Given the description of an element on the screen output the (x, y) to click on. 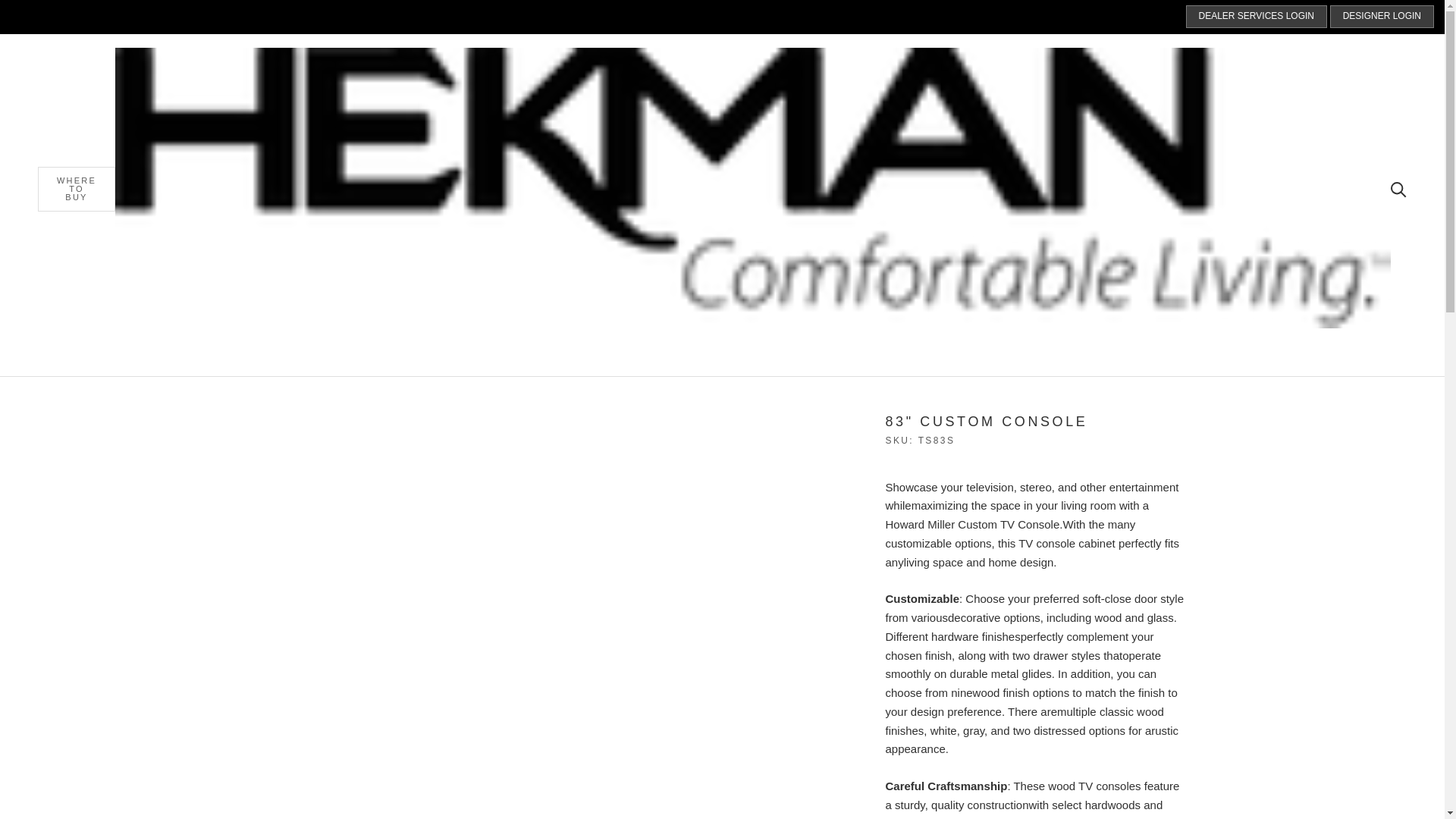
WHERE TO BUY (76, 189)
DEALER SERVICES LOGIN (1256, 15)
DESIGNER LOGIN (1382, 15)
